Given the description of an element on the screen output the (x, y) to click on. 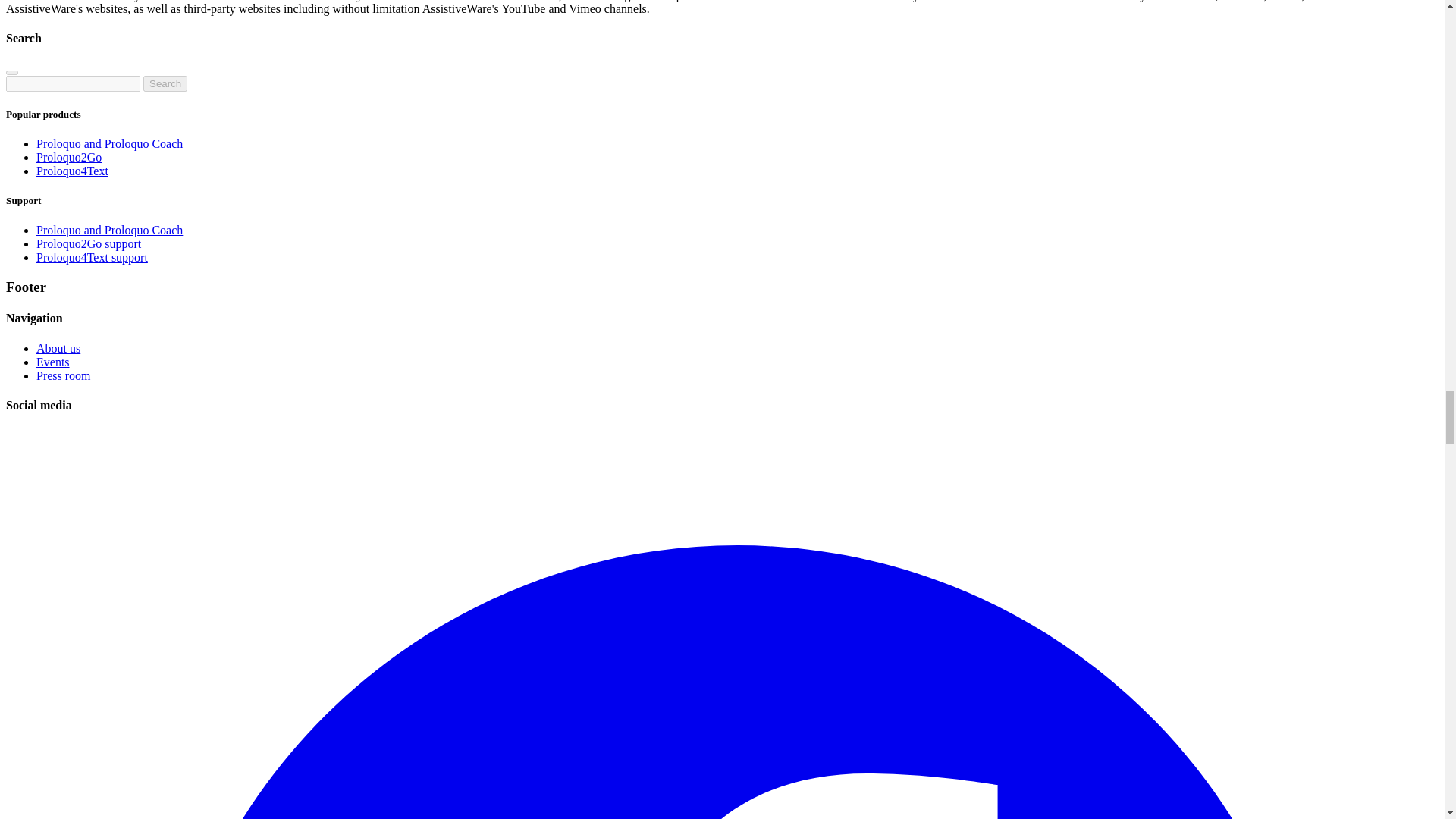
Proloquo and Proloquo Coach (109, 143)
Proloquo2Go support (88, 243)
Events (52, 361)
Proloquo2Go (68, 156)
Press room (63, 375)
Search (164, 83)
Proloquo4Text support (92, 256)
About us (58, 348)
Proloquo4Text (71, 170)
Search (164, 83)
Proloquo and Proloquo Coach (109, 229)
